Given the description of an element on the screen output the (x, y) to click on. 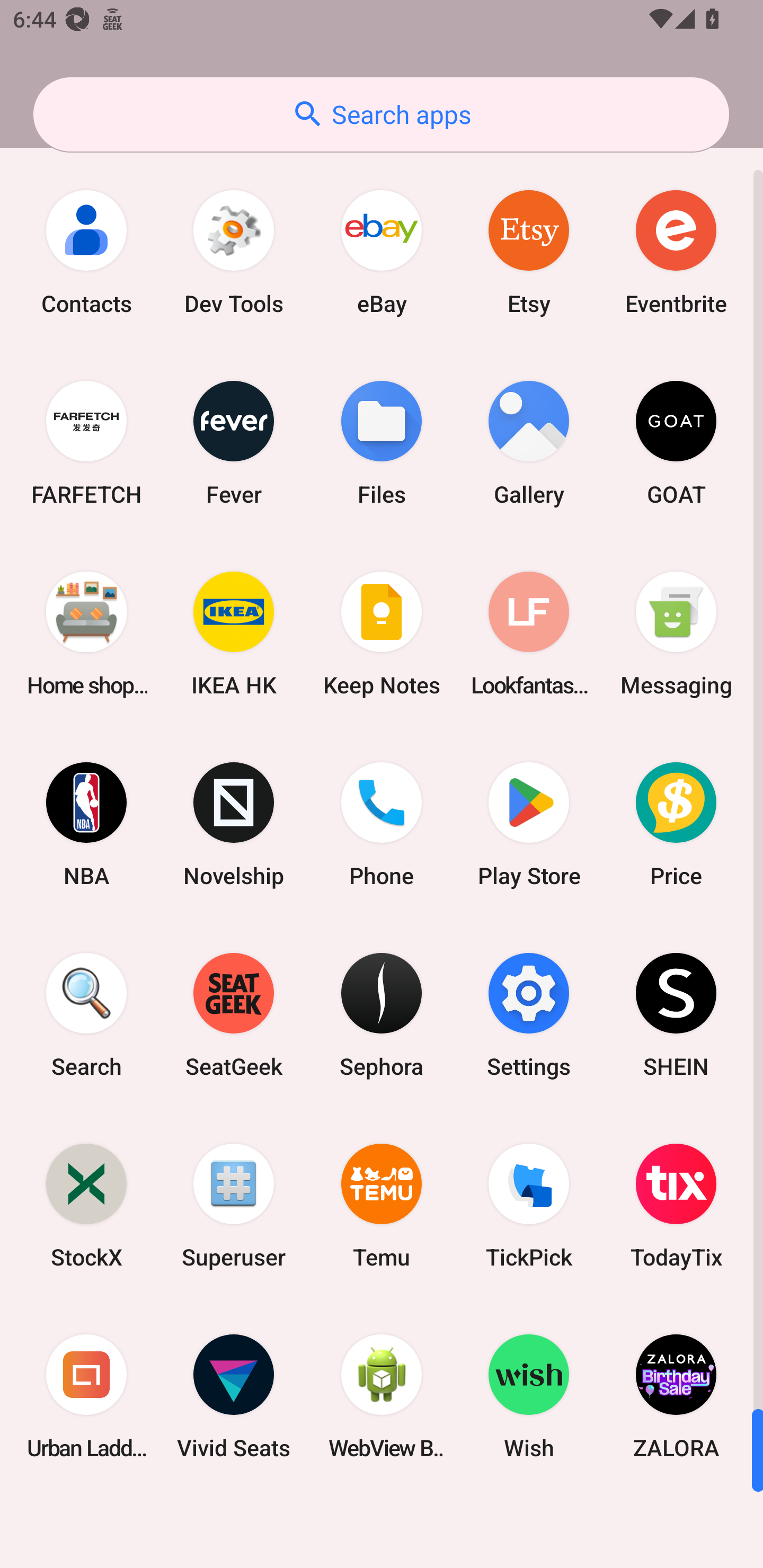
  Search apps (381, 114)
Contacts (86, 252)
Dev Tools (233, 252)
eBay (381, 252)
Etsy (528, 252)
Eventbrite (676, 252)
FARFETCH (86, 442)
Fever (233, 442)
Files (381, 442)
Gallery (528, 442)
GOAT (676, 442)
Home shopping (86, 633)
IKEA HK (233, 633)
Keep Notes (381, 633)
Lookfantastic (528, 633)
Messaging (676, 633)
NBA (86, 823)
Novelship (233, 823)
Phone (381, 823)
Play Store (528, 823)
Price (676, 823)
Search (86, 1014)
SeatGeek (233, 1014)
Sephora (381, 1014)
Settings (528, 1014)
SHEIN (676, 1014)
StockX (86, 1205)
Superuser (233, 1205)
Temu (381, 1205)
TickPick (528, 1205)
TodayTix (676, 1205)
Urban Ladder (86, 1396)
Vivid Seats (233, 1396)
WebView Browser Tester (381, 1396)
Wish (528, 1396)
ZALORA (676, 1396)
